Given the description of an element on the screen output the (x, y) to click on. 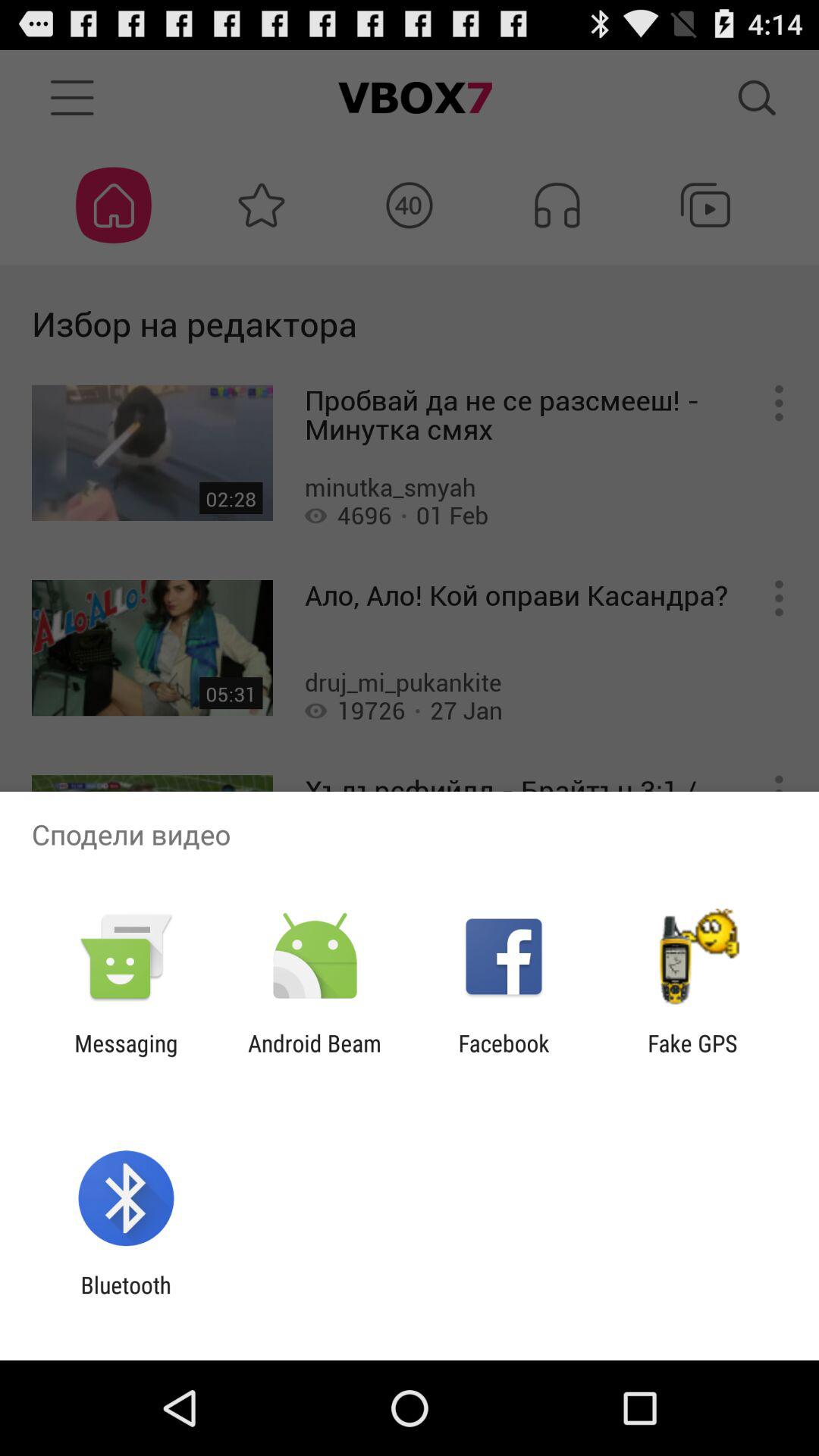
turn off the app to the left of the android beam app (126, 1056)
